Given the description of an element on the screen output the (x, y) to click on. 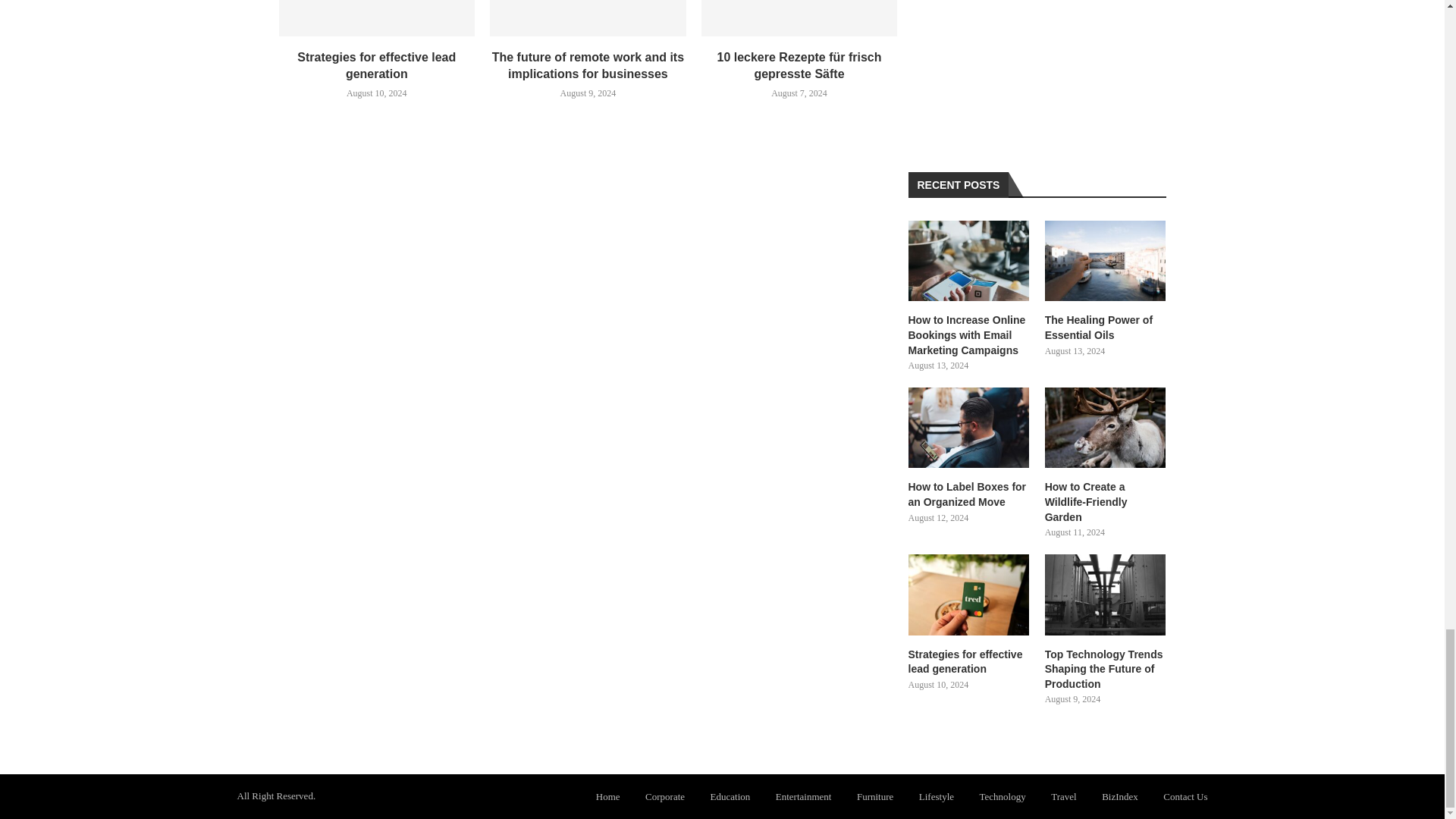
Strategies for effective lead generation (377, 18)
The Healing Power of Essential Oils (1105, 327)
The Healing Power of Essential Oils (1105, 261)
